Given the description of an element on the screen output the (x, y) to click on. 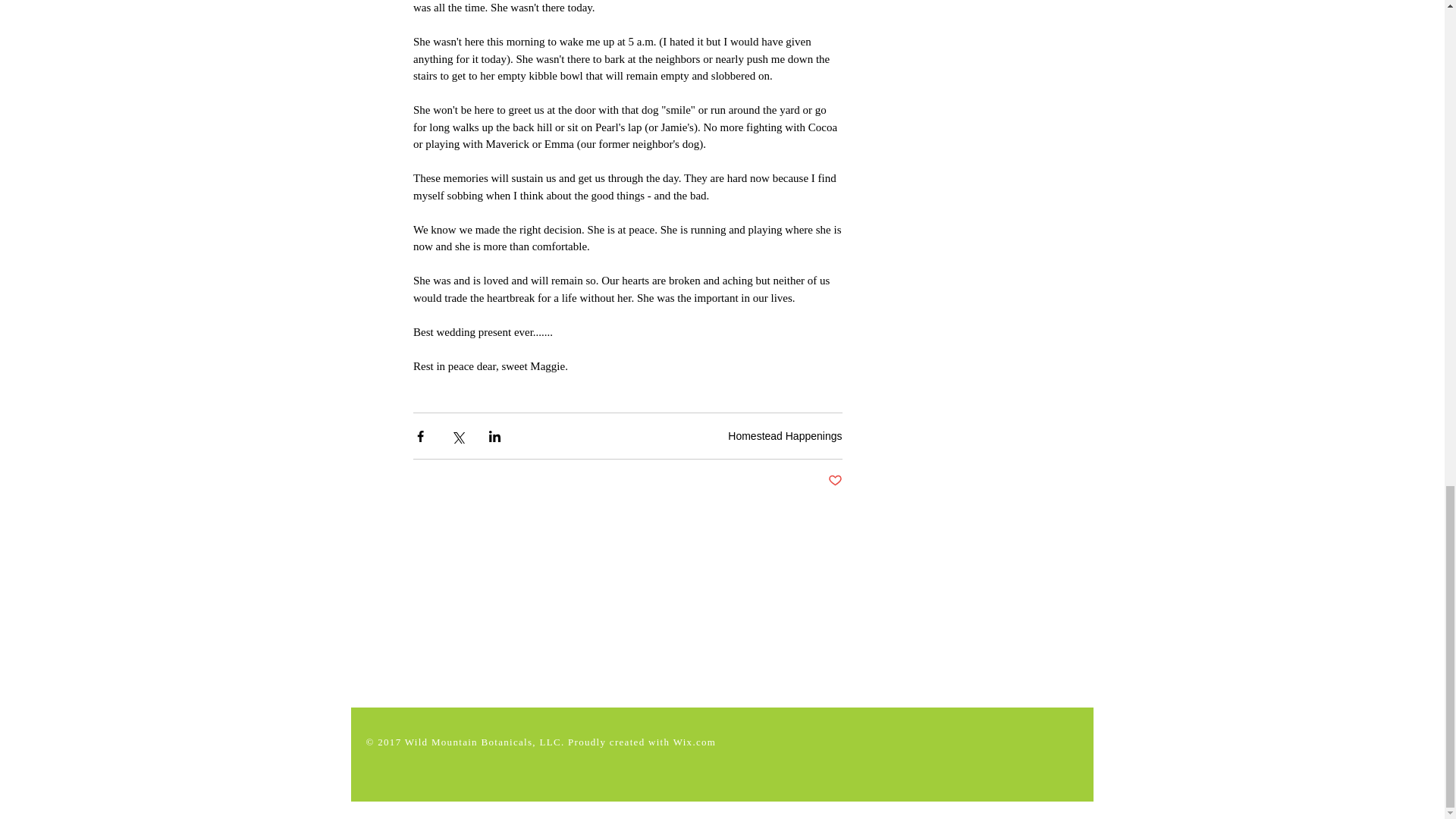
Wix.com (694, 741)
Post not marked as liked (835, 480)
Homestead Happenings (784, 435)
